Given the description of an element on the screen output the (x, y) to click on. 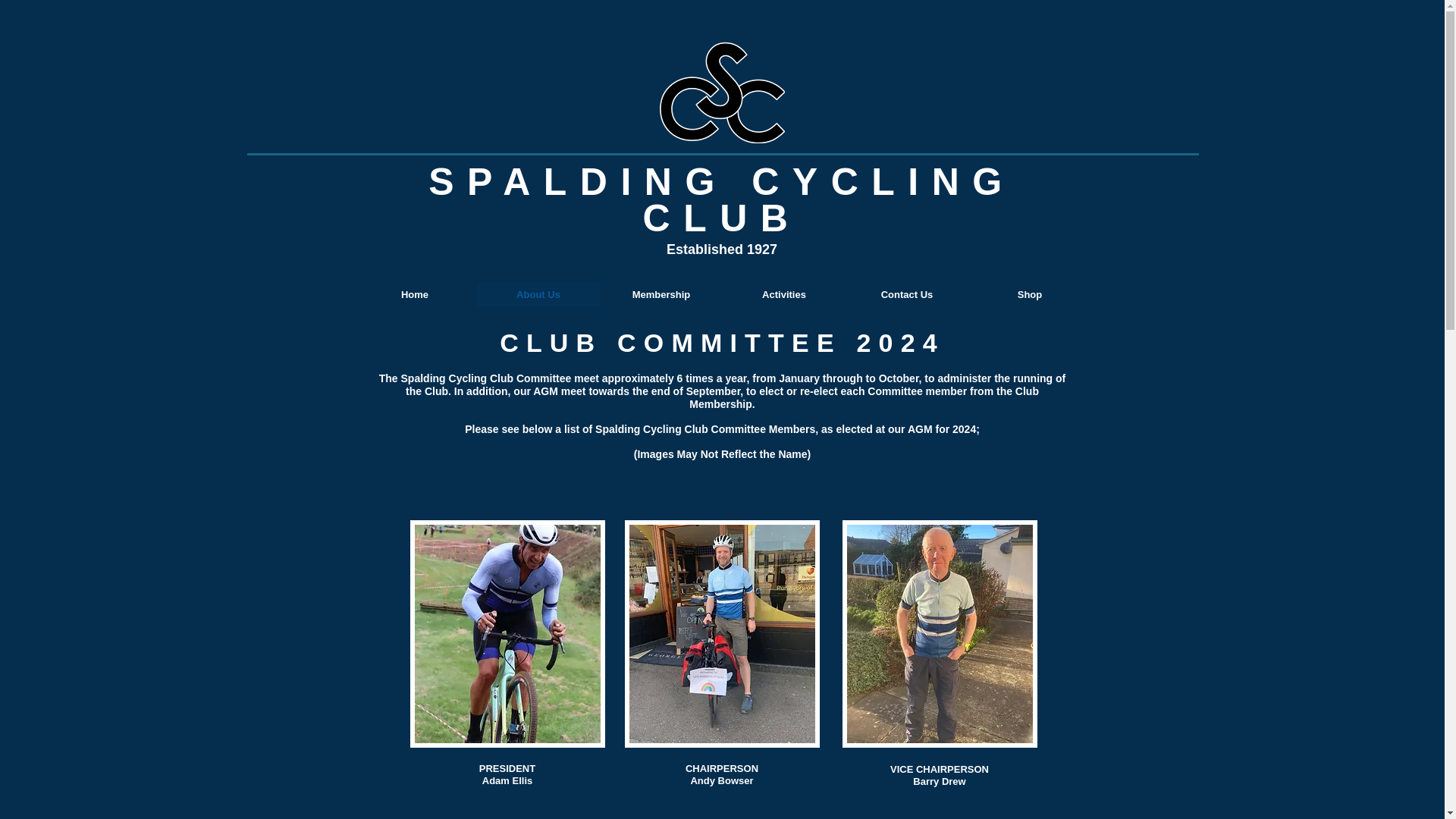
Membership (660, 294)
Activities (783, 294)
Contact Us (906, 294)
About Us (537, 294)
Shop (1029, 294)
Home (415, 294)
